Given the description of an element on the screen output the (x, y) to click on. 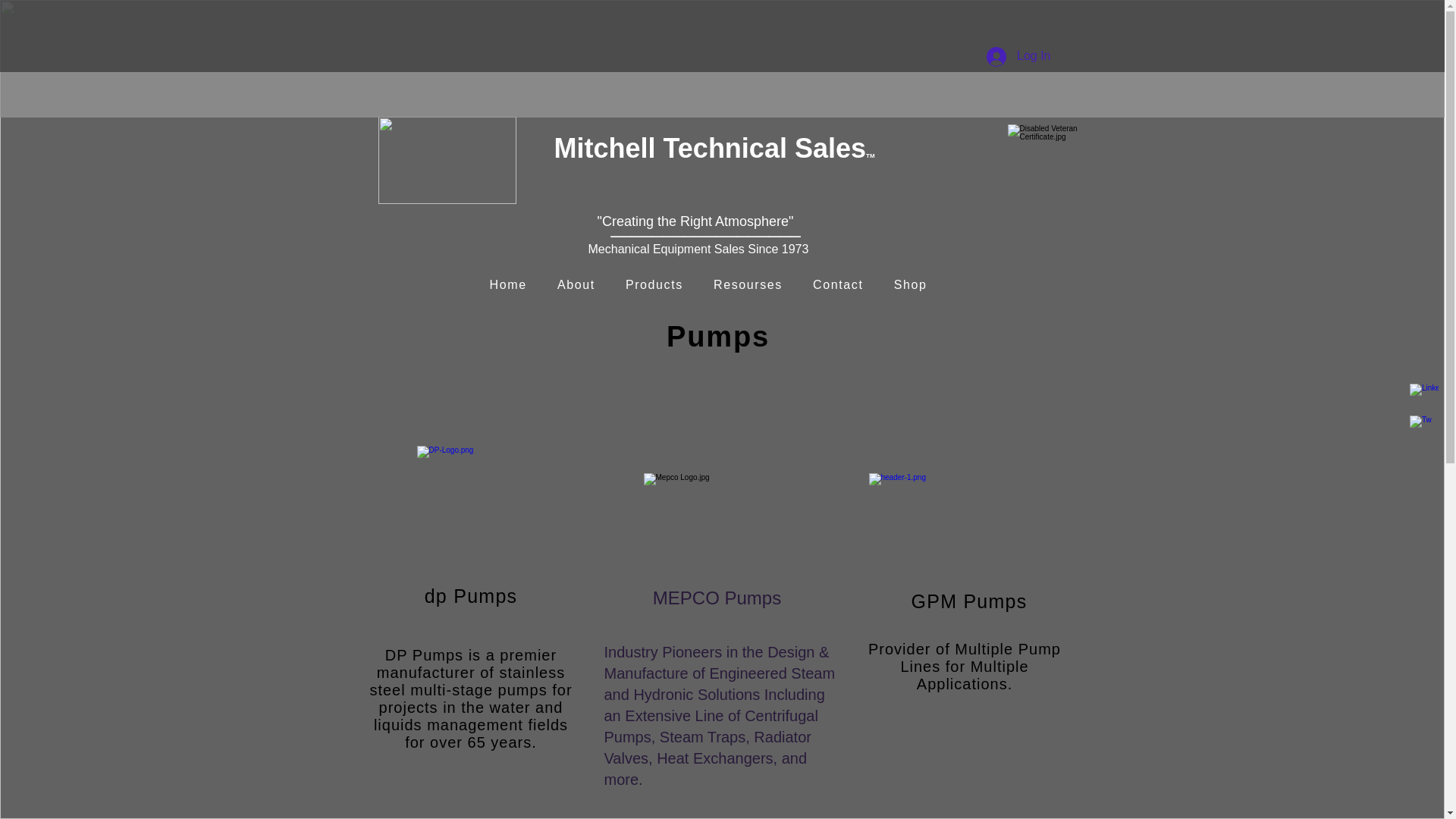
Contact (838, 285)
Products (653, 285)
Log In (1018, 56)
Shop (910, 285)
Home (507, 285)
Header.jpg (446, 160)
Resourses (747, 285)
About (575, 285)
